Given the description of an element on the screen output the (x, y) to click on. 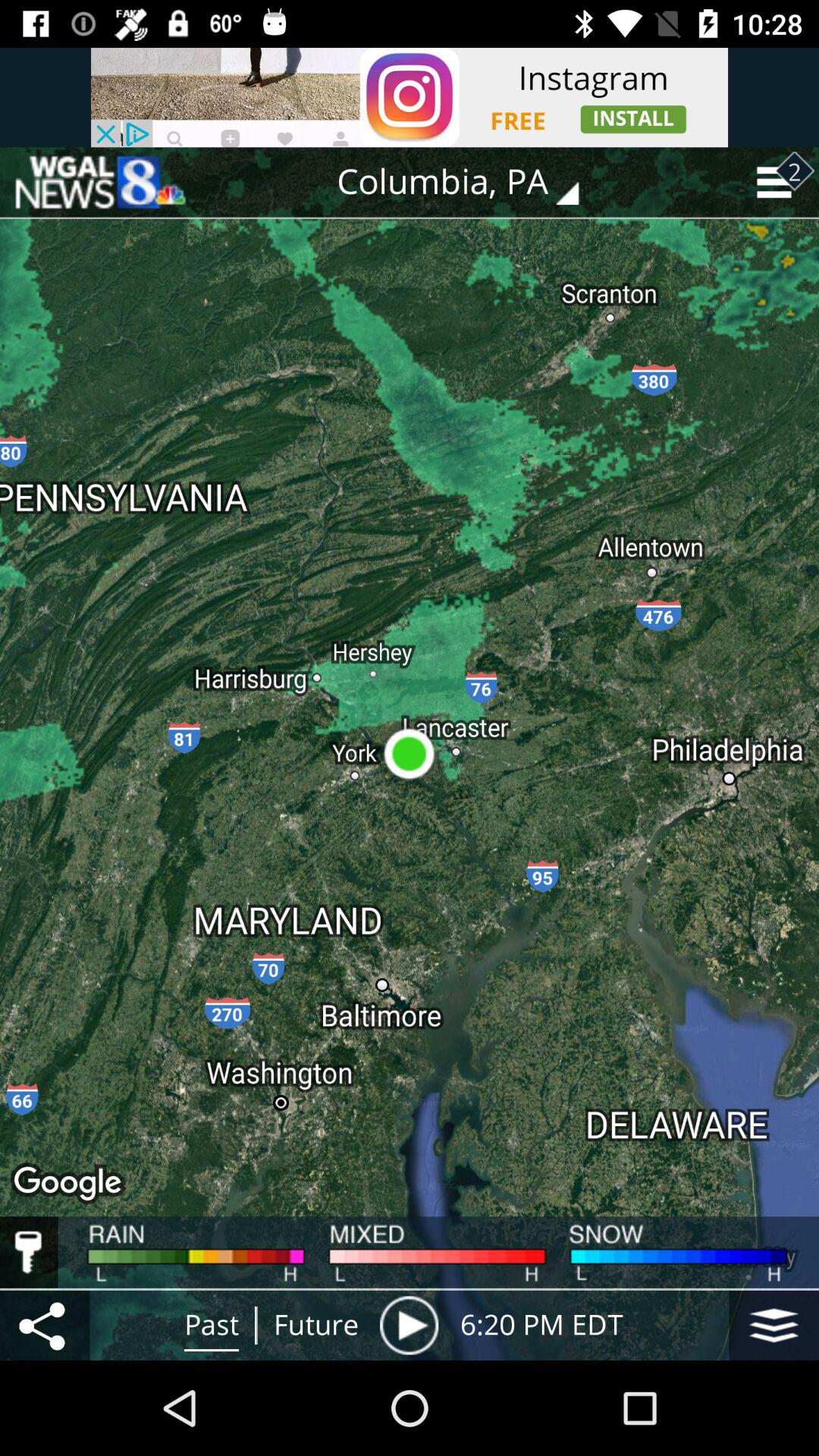
turn off the icon at the top left corner (99, 182)
